Given the description of an element on the screen output the (x, y) to click on. 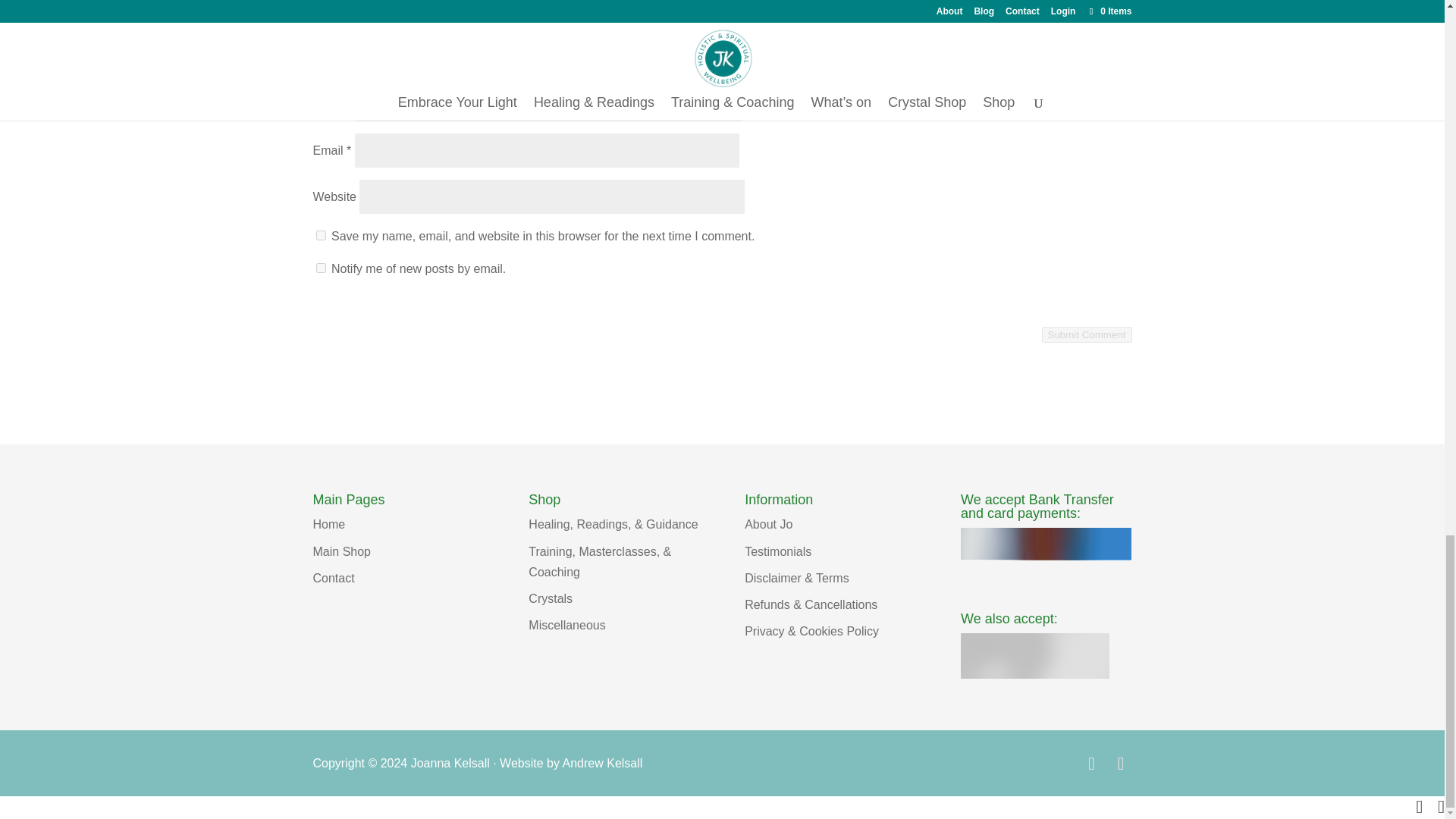
yes (319, 235)
Miscellaneous (566, 625)
About Jo (768, 523)
Submit Comment (1087, 334)
Main Shop (342, 551)
Testimonials (777, 551)
subscribe (319, 267)
Crystals (550, 598)
Contact (333, 577)
Home (329, 523)
